Given the description of an element on the screen output the (x, y) to click on. 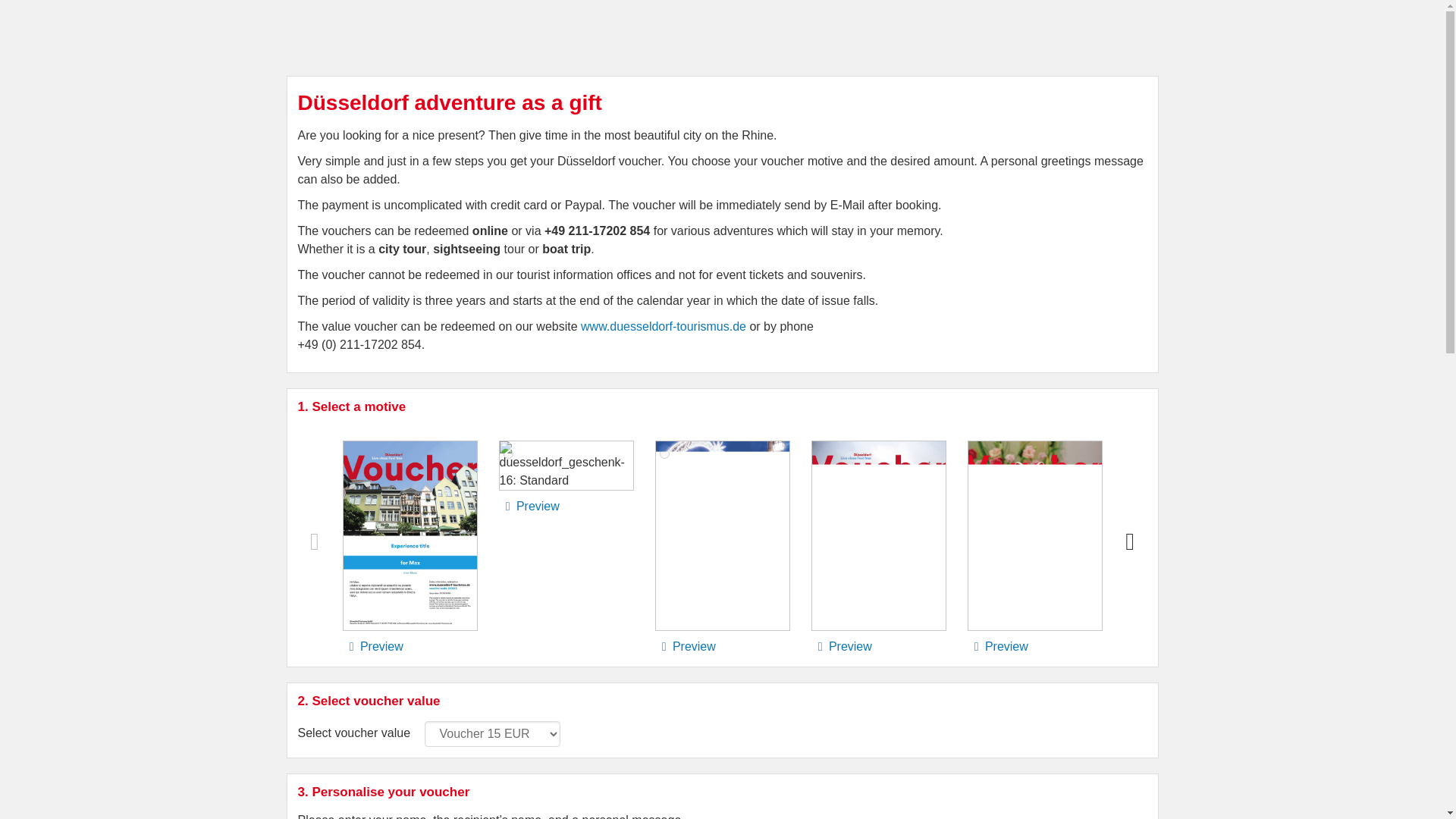
Preview (997, 645)
Preview (840, 645)
Preview (529, 505)
Preview (684, 645)
Preview (372, 645)
www.duesseldorf-tourismus.de (662, 326)
